Given the description of an element on the screen output the (x, y) to click on. 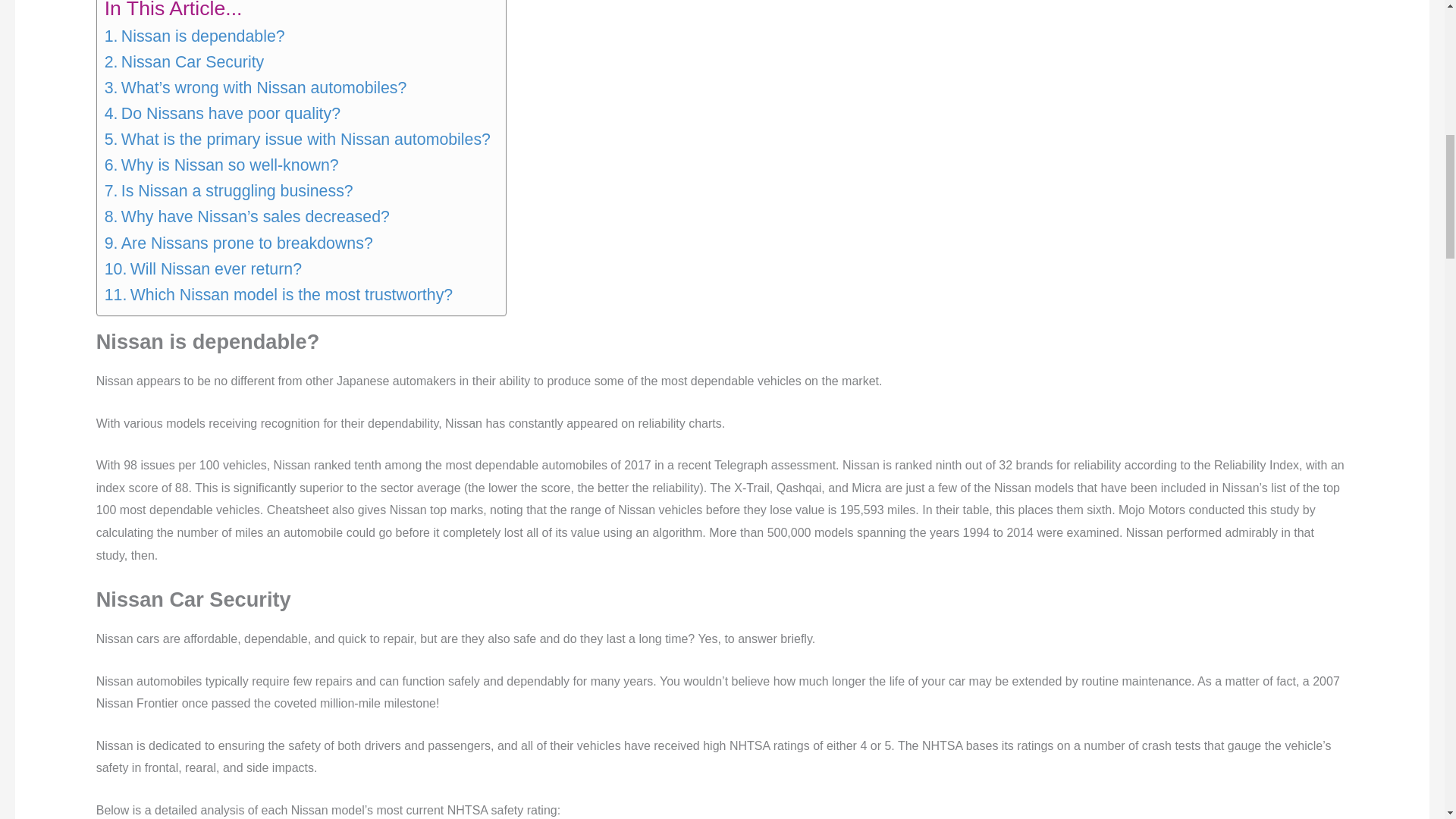
Are Nissans prone to breakdowns? (238, 243)
Nissan is dependable? (194, 36)
Why is Nissan so well-known? (221, 165)
Which Nissan model is the most trustworthy? (278, 294)
Nissan Car Security (184, 62)
What is the primary issue with Nissan automobiles? (297, 139)
Do Nissans have poor quality? (222, 113)
Are Nissans prone to breakdowns? (238, 243)
Is Nissan a struggling business? (228, 190)
What is the primary issue with Nissan automobiles? (297, 139)
